Given the description of an element on the screen output the (x, y) to click on. 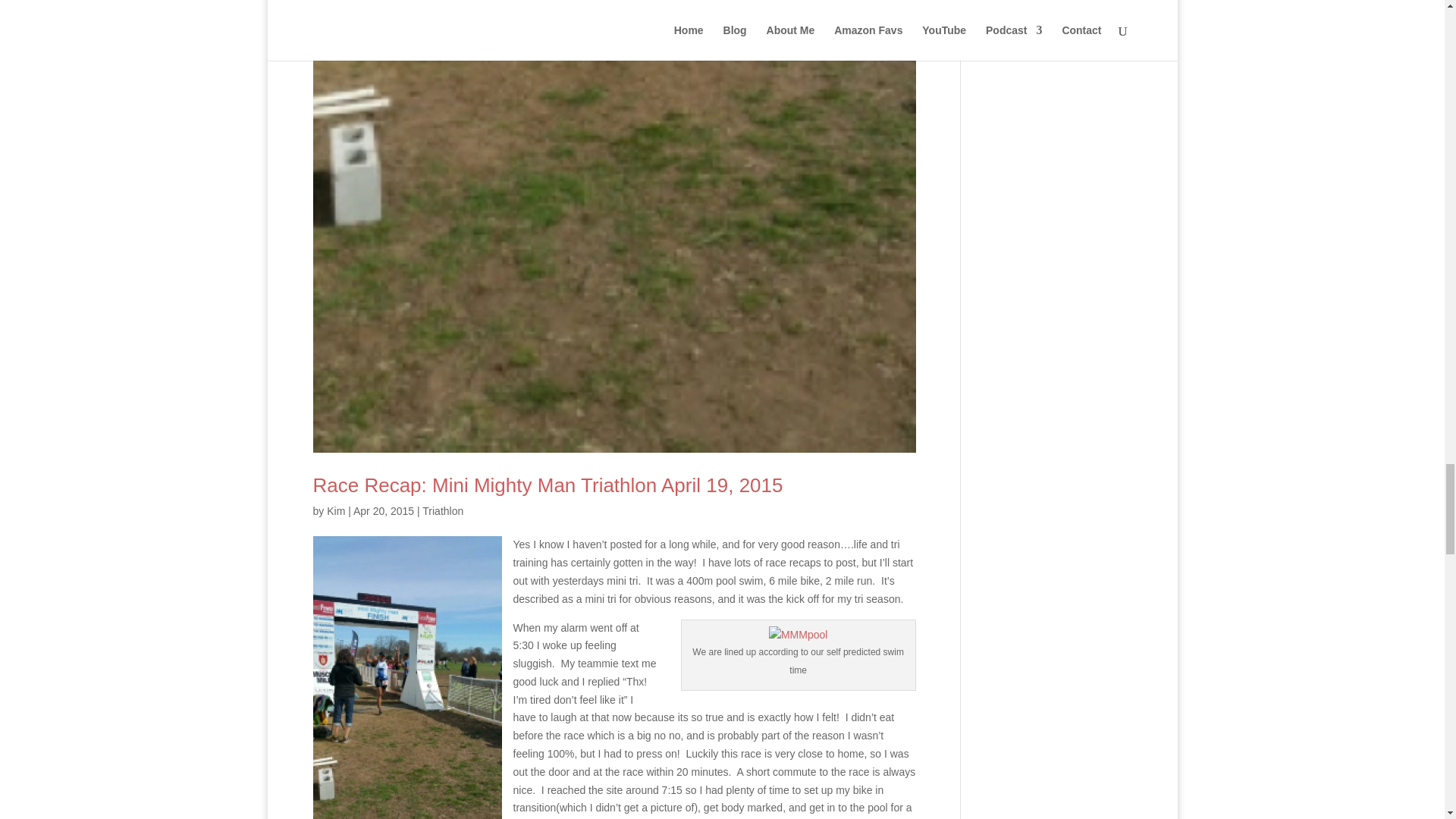
Race Recap: Mini Mighty Man Triathlon April 19, 2015 (548, 485)
Posts by Kim (335, 510)
Triathlon (442, 510)
Kim (335, 510)
